Given the description of an element on the screen output the (x, y) to click on. 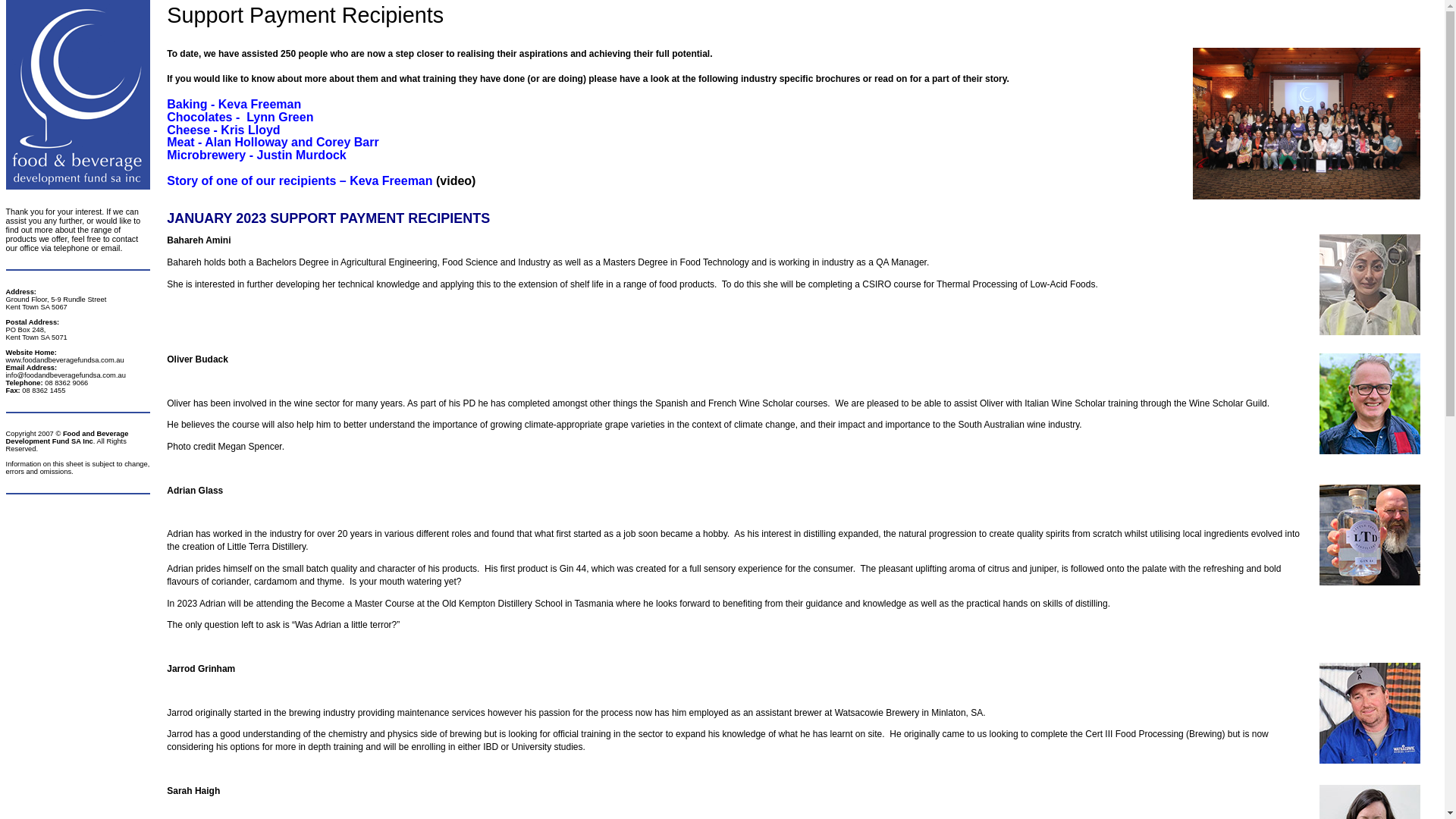
Chocolates -  Lynn Green Element type: text (239, 116)
Baking - Keva Freeman Element type: text (233, 103)
Cheese - Kris Lloyd Element type: text (222, 129)
Meat - Alan Holloway and Corey Barr Element type: text (272, 141)
Microbrewery - Justin Murdock Element type: text (256, 154)
